Given the description of an element on the screen output the (x, y) to click on. 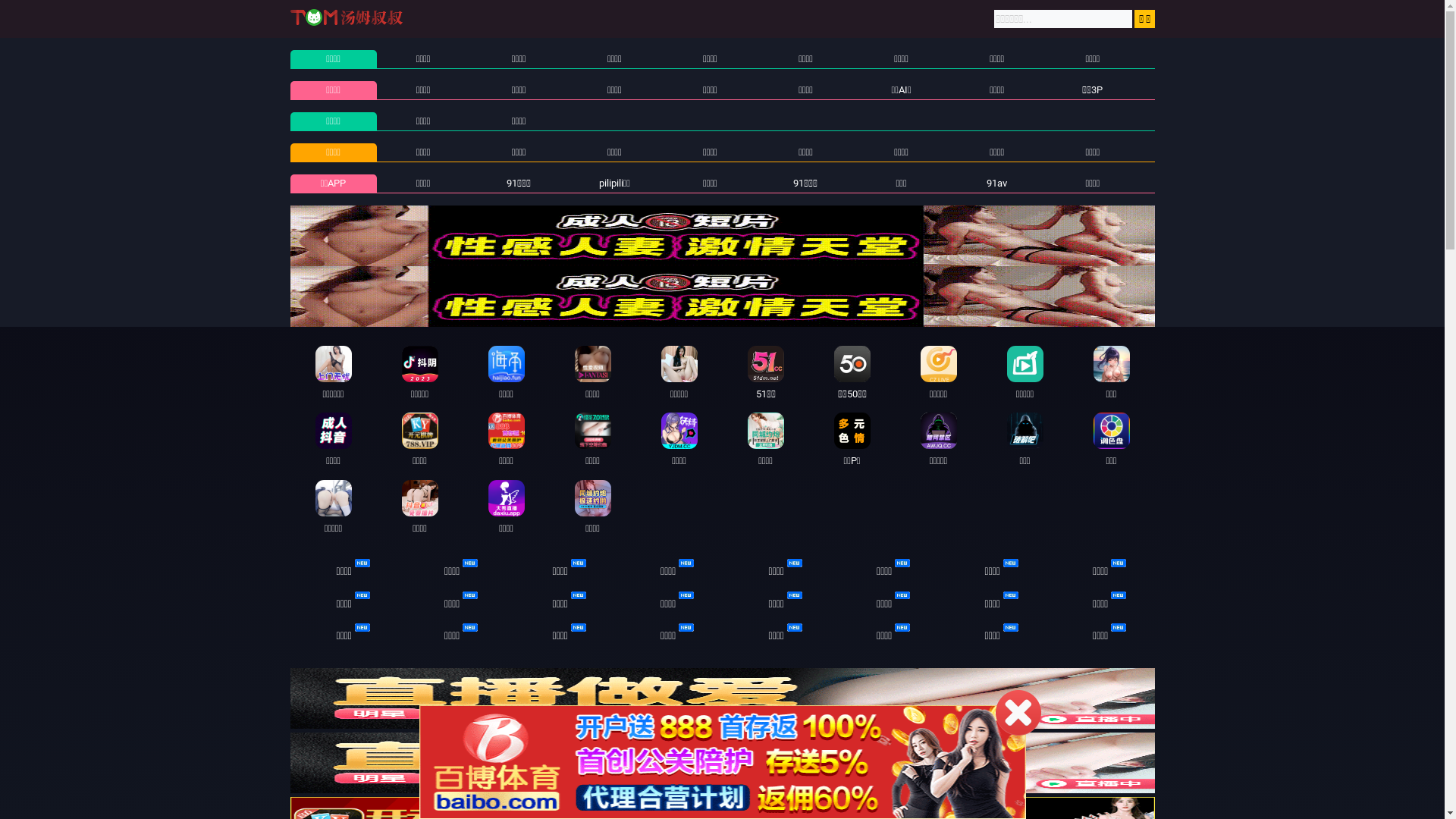
91av Element type: text (996, 182)
